Given the description of an element on the screen output the (x, y) to click on. 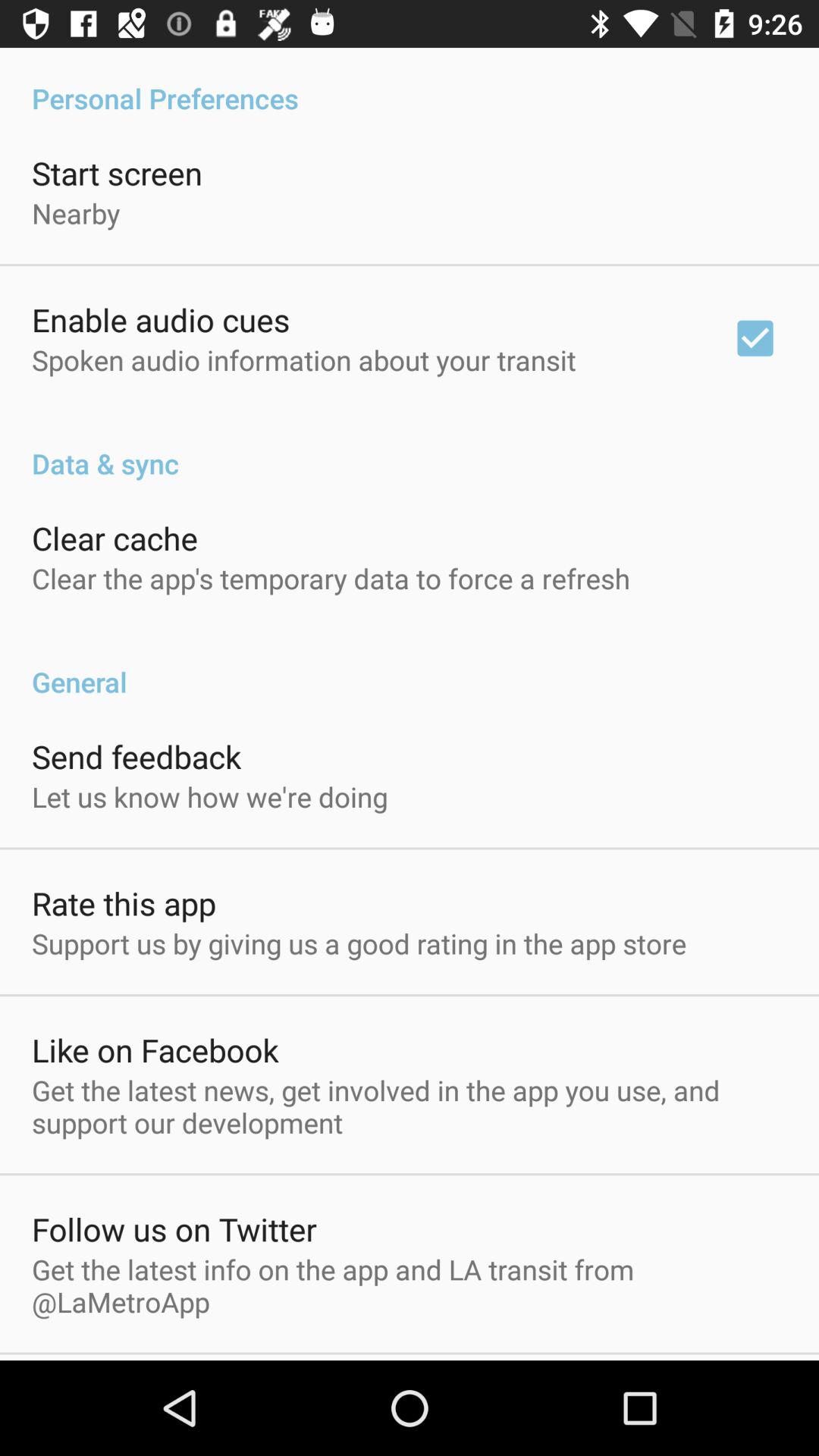
press icon next to spoken audio information item (755, 338)
